Given the description of an element on the screen output the (x, y) to click on. 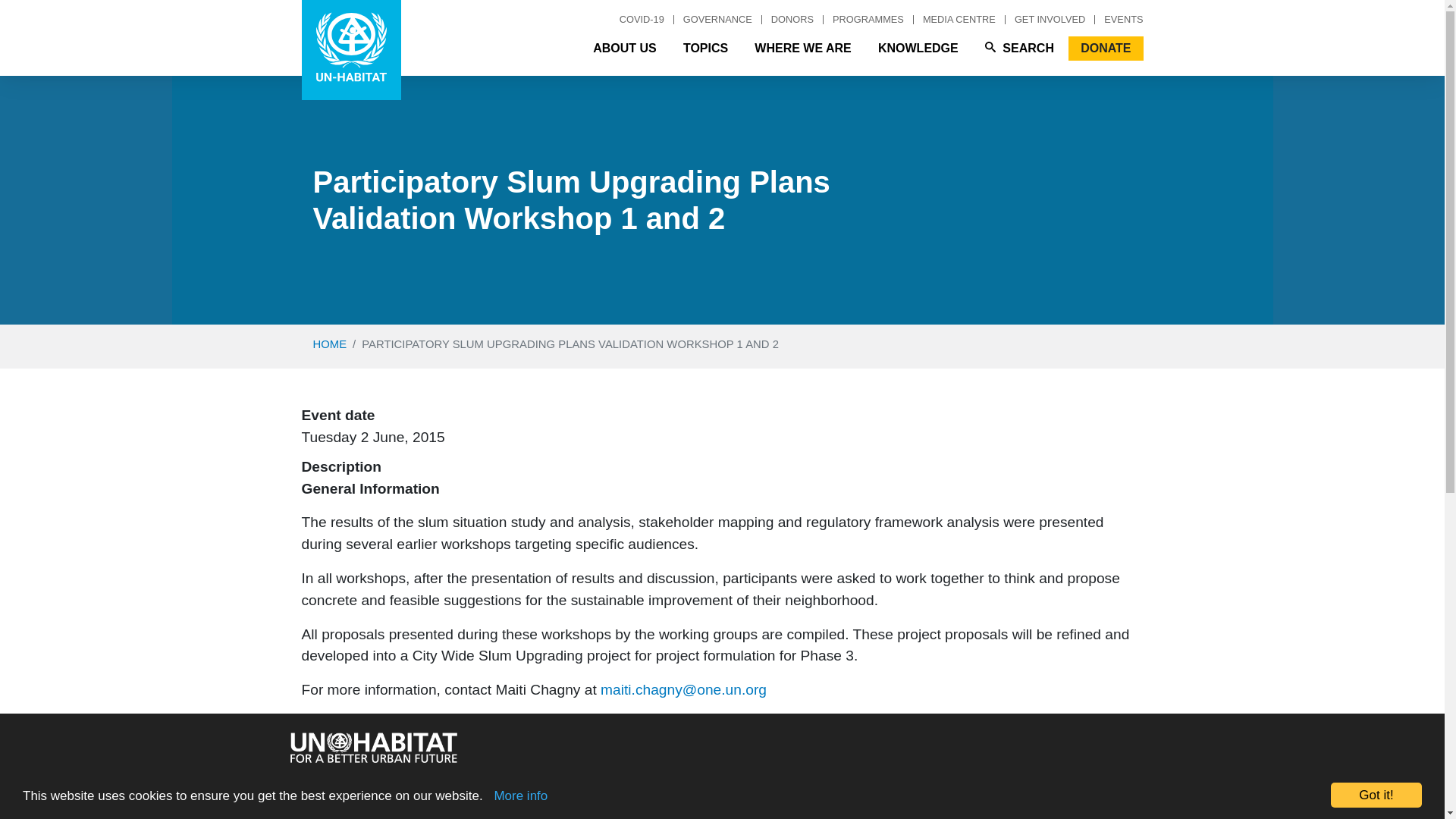
Home (351, 49)
